Given the description of an element on the screen output the (x, y) to click on. 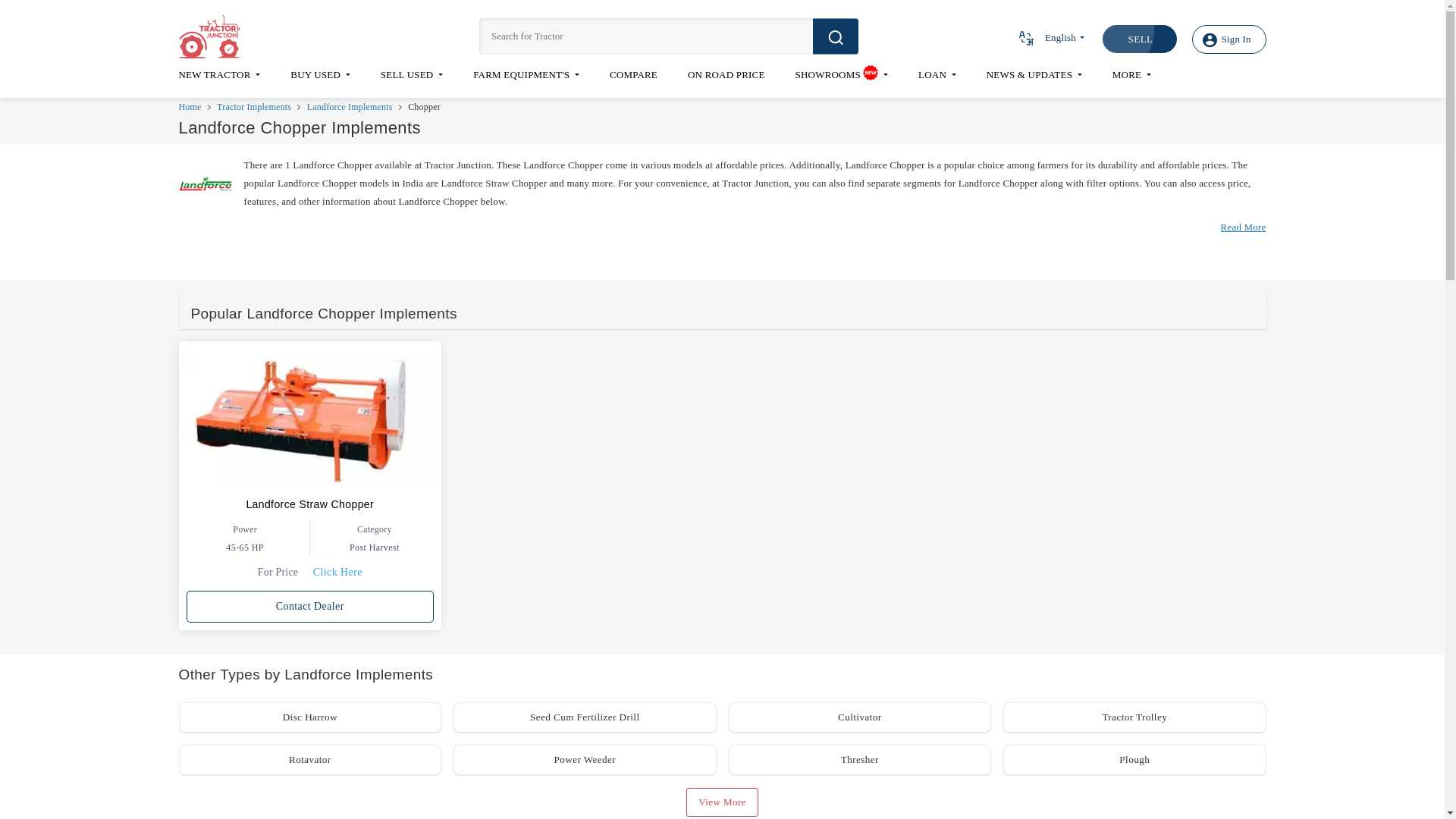
Sign In (1229, 39)
NEW TRACTOR (219, 81)
search (835, 36)
Search (835, 37)
English (1049, 37)
SELL (1139, 39)
Search (1025, 37)
